Given the description of an element on the screen output the (x, y) to click on. 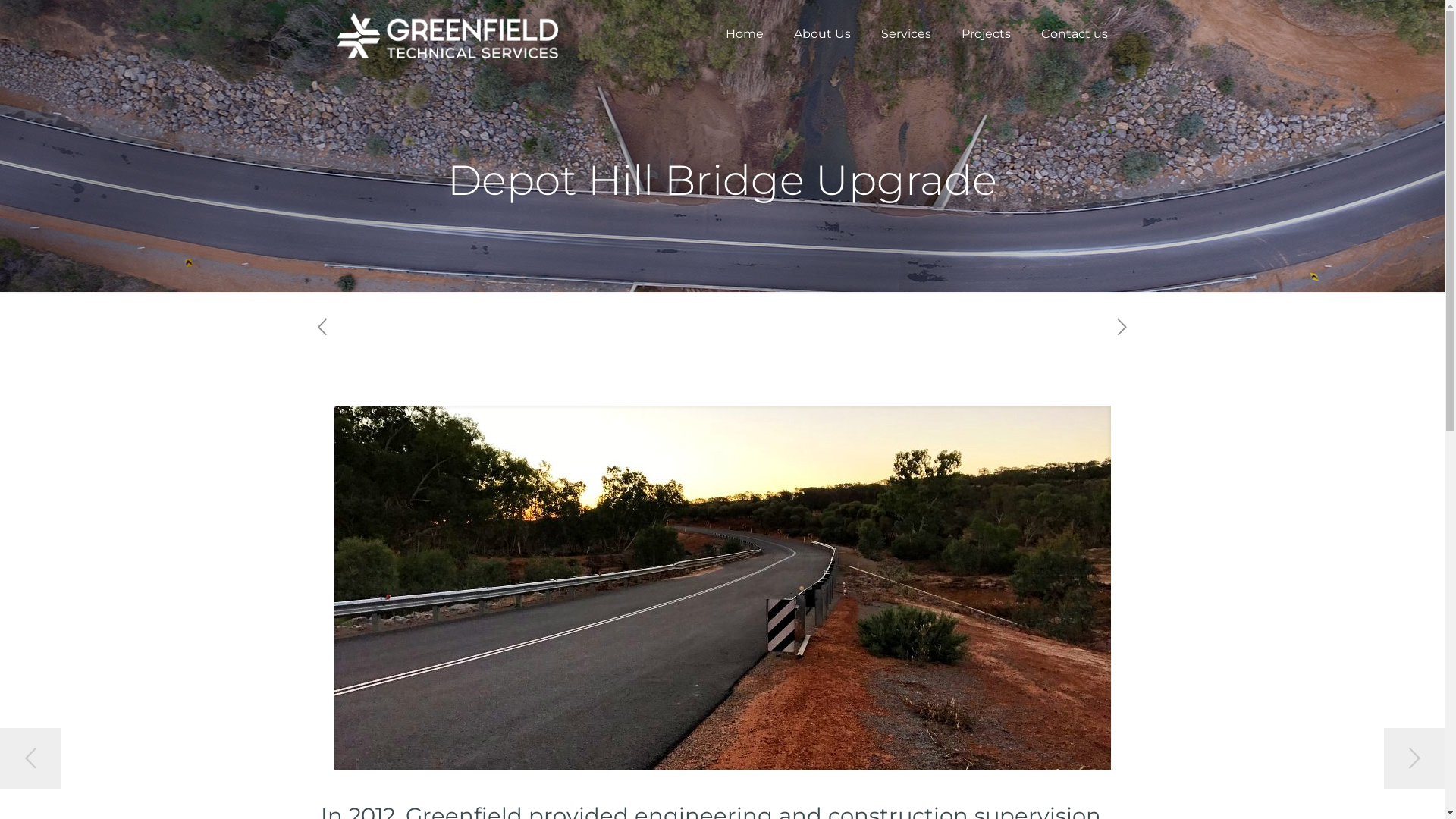
Greenfield Technical Services Element type: hover (447, 34)
Contact us Element type: text (1073, 34)
Services Element type: text (906, 34)
About Us Element type: text (821, 34)
Projects Element type: text (986, 34)
Home Element type: text (743, 34)
